Given the description of an element on the screen output the (x, y) to click on. 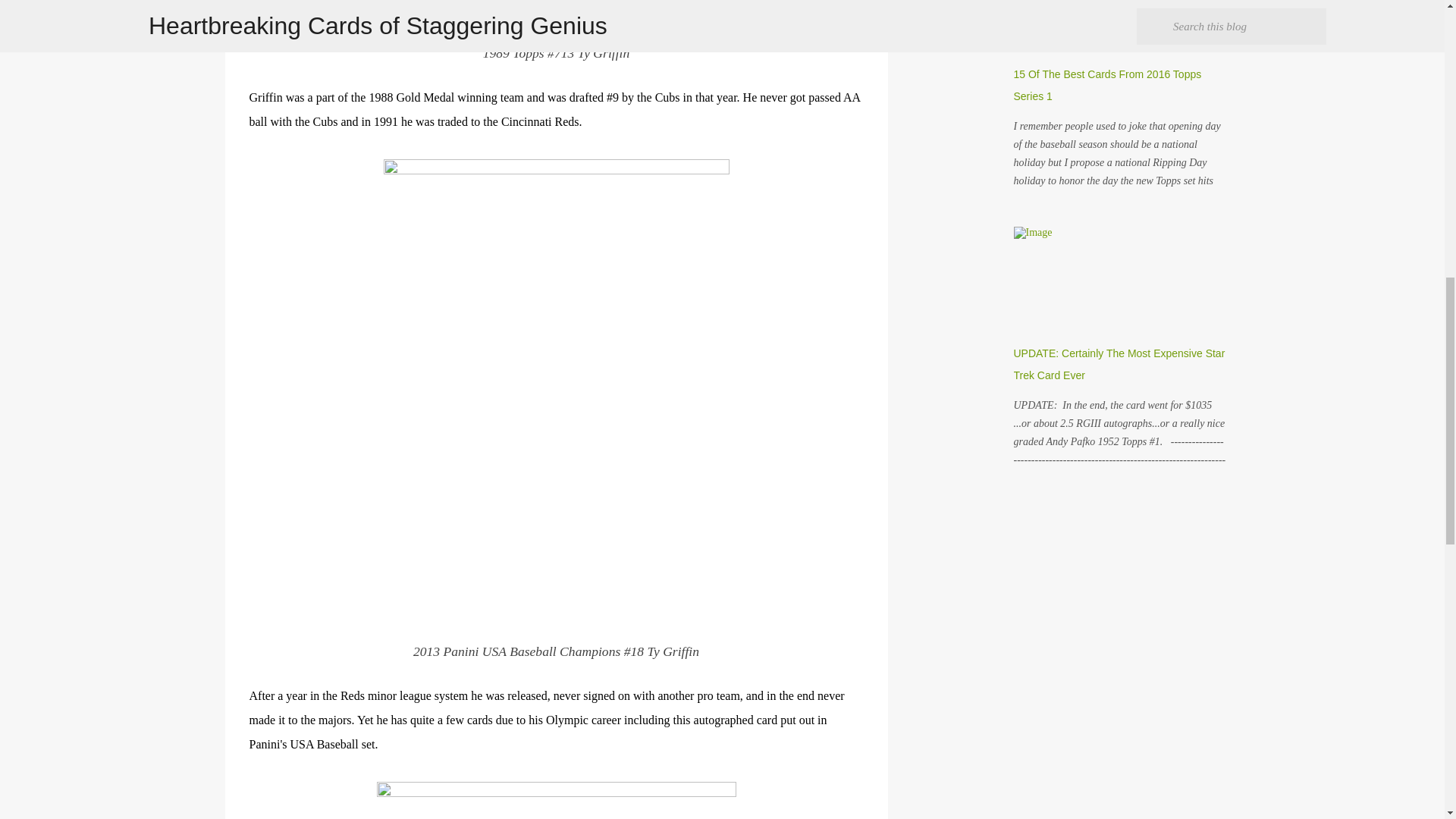
15 Of The Best Cards From 2016 Topps Series 1 (1107, 84)
UPDATE: Certainly The Most Expensive Star Trek Card Ever (1118, 364)
